Given the description of an element on the screen output the (x, y) to click on. 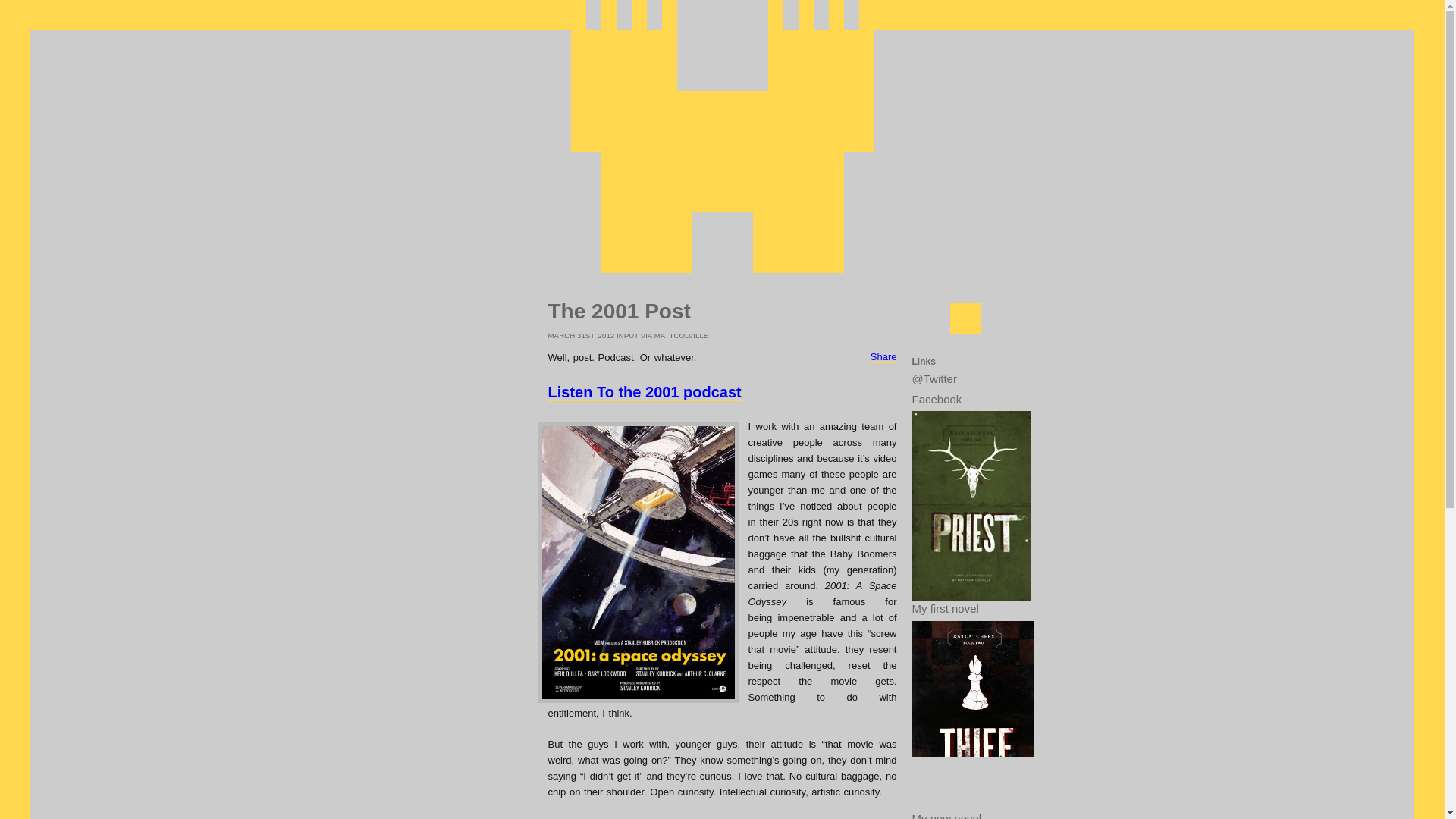
Listen To the 2001 podcast (644, 392)
Facebook (964, 399)
Share (883, 356)
The 2001 Post (618, 310)
Permanent Link to The 2001 Post (618, 310)
